Given the description of an element on the screen output the (x, y) to click on. 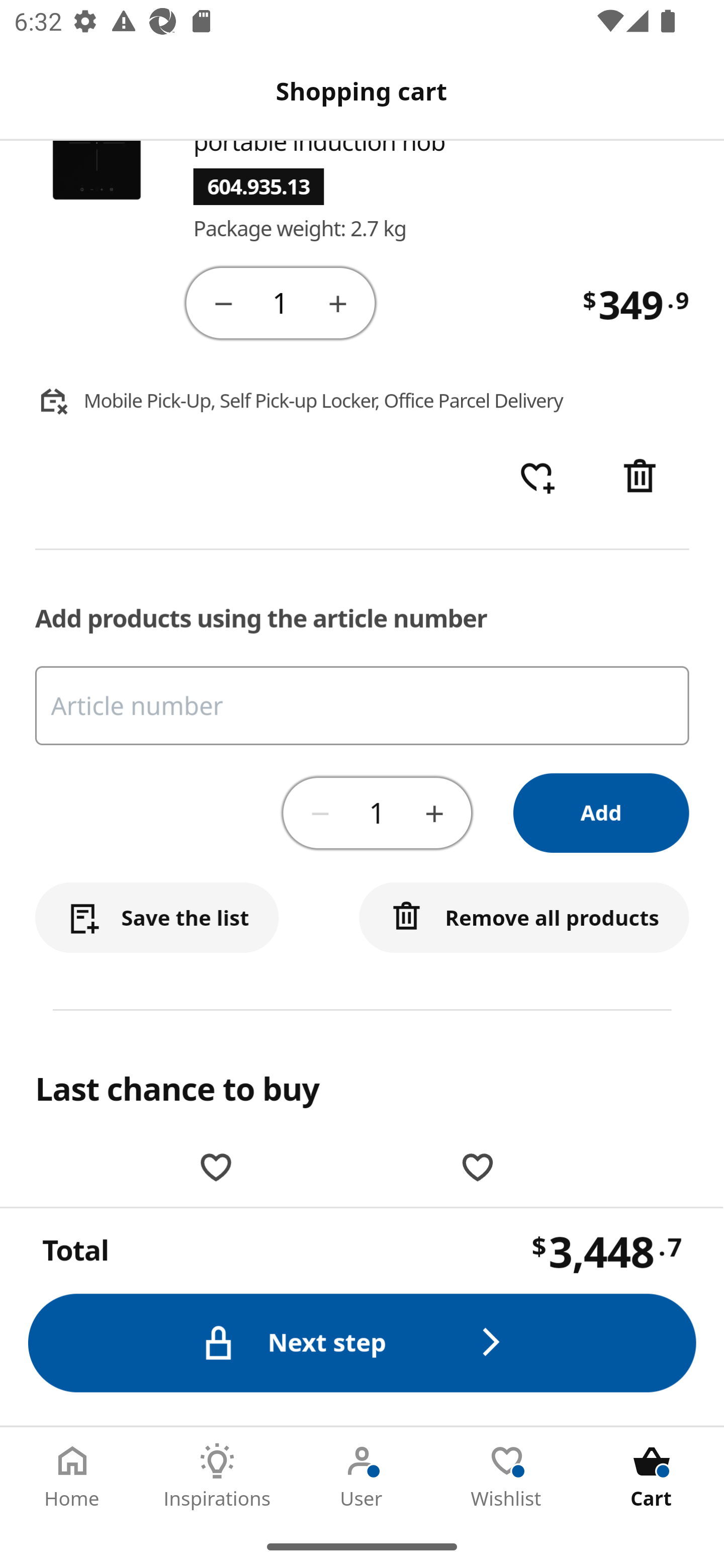
1 (281, 303)
 (223, 303)
 (338, 303)
  (536, 479)
 (641, 479)
Add (602, 814)
1 (376, 813)
 (320, 813)
 (434, 813)
 Save the list (157, 918)
 Remove all products (525, 918)
Home
Tab 1 of 5 (72, 1476)
Inspirations
Tab 2 of 5 (216, 1476)
User
Tab 3 of 5 (361, 1476)
Wishlist
Tab 4 of 5 (506, 1476)
Cart
Tab 5 of 5 (651, 1476)
